Given the description of an element on the screen output the (x, y) to click on. 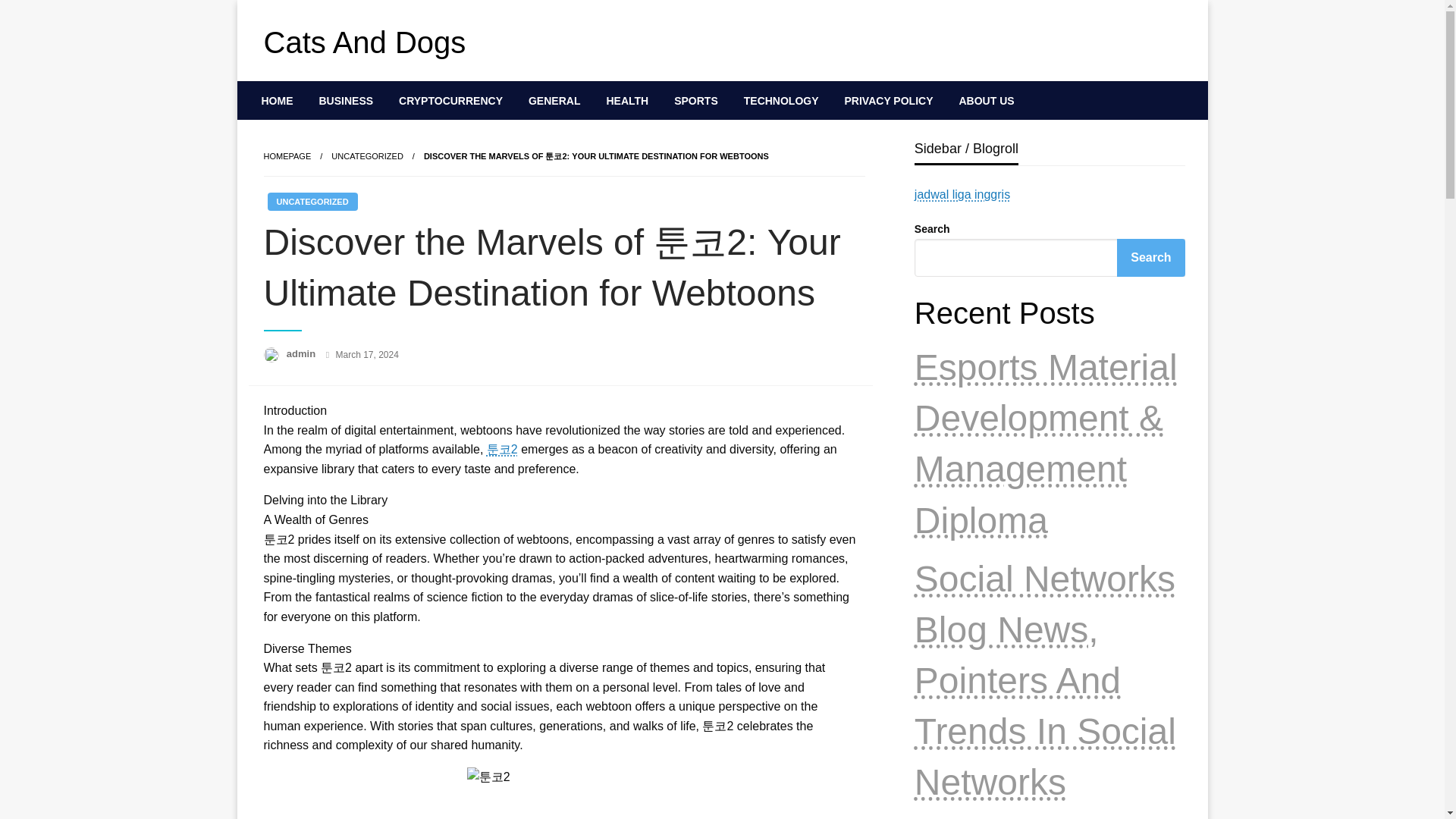
SPORTS (695, 100)
HOME (276, 100)
Search (1150, 257)
BUSINESS (346, 100)
March 17, 2024 (365, 354)
Uncategorized (367, 155)
TECHNOLOGY (780, 100)
HOMEPAGE (287, 155)
PRIVACY POLICY (888, 100)
CRYPTOCURRENCY (450, 100)
